Given the description of an element on the screen output the (x, y) to click on. 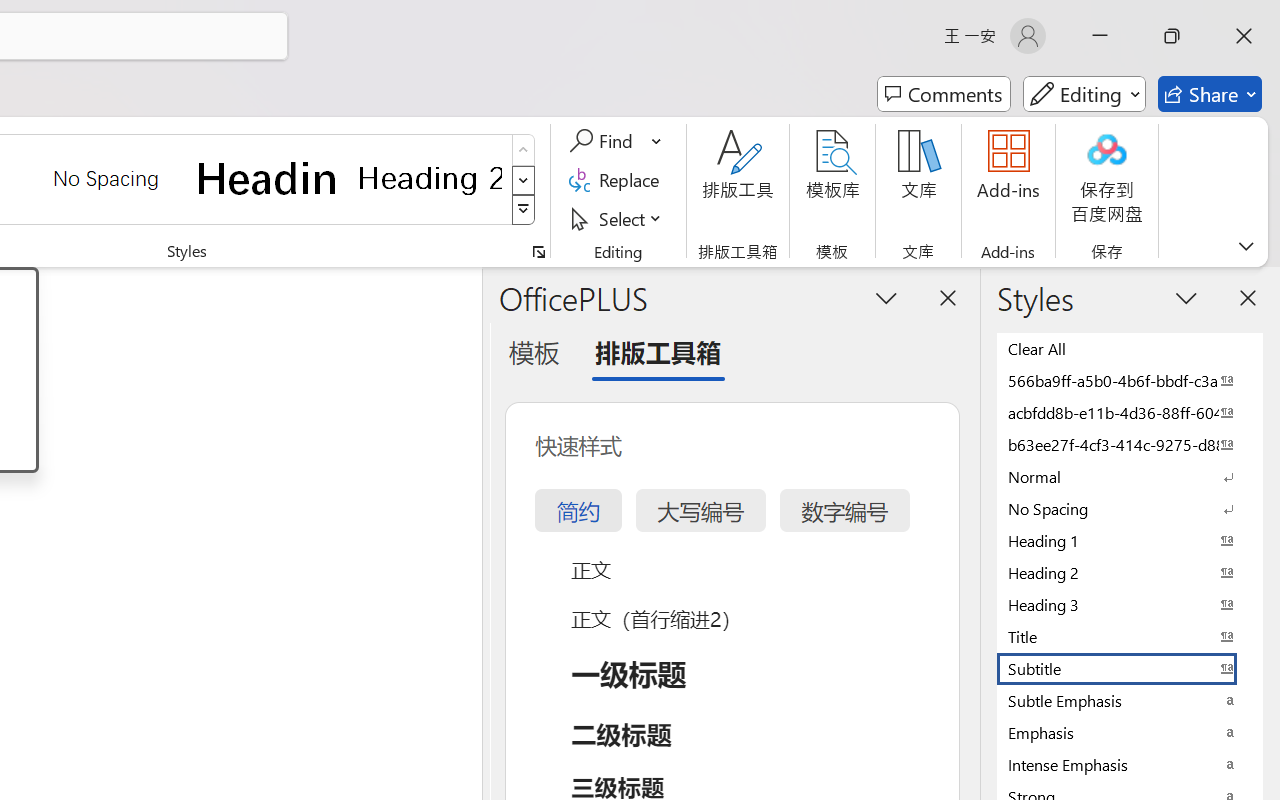
Class: NetUIImage (523, 210)
Heading 3 (1130, 604)
b63ee27f-4cf3-414c-9275-d88e3f90795e (1130, 444)
Replace... (617, 179)
No Spacing (1130, 508)
Task Pane Options (886, 297)
Subtle Emphasis (1130, 700)
Subtitle (1130, 668)
Styles (523, 209)
